Given the description of an element on the screen output the (x, y) to click on. 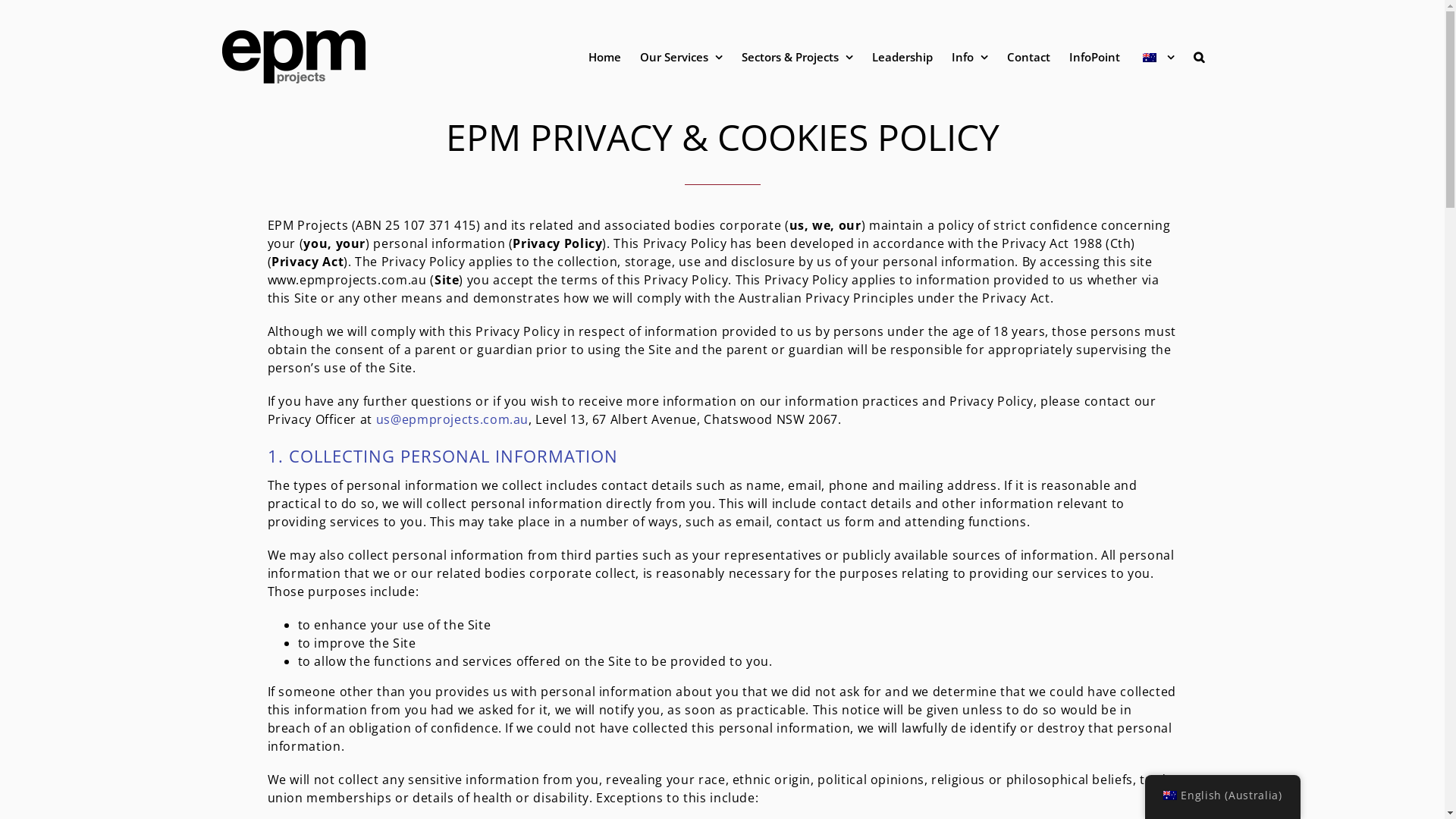
Sectors & Projects Element type: text (797, 56)
Contact Element type: text (1028, 56)
Leadership Element type: text (902, 56)
Search Element type: hover (1198, 56)
InfoPoint Element type: text (1094, 56)
Home Element type: text (604, 56)
English (Australia) Element type: text (1222, 795)
Our Services Element type: text (681, 56)
English (Australia) Element type: hover (1148, 57)
us@epmprojects.com.au Element type: text (452, 419)
Info Element type: text (968, 56)
English (Australia) Element type: hover (1169, 795)
